Given the description of an element on the screen output the (x, y) to click on. 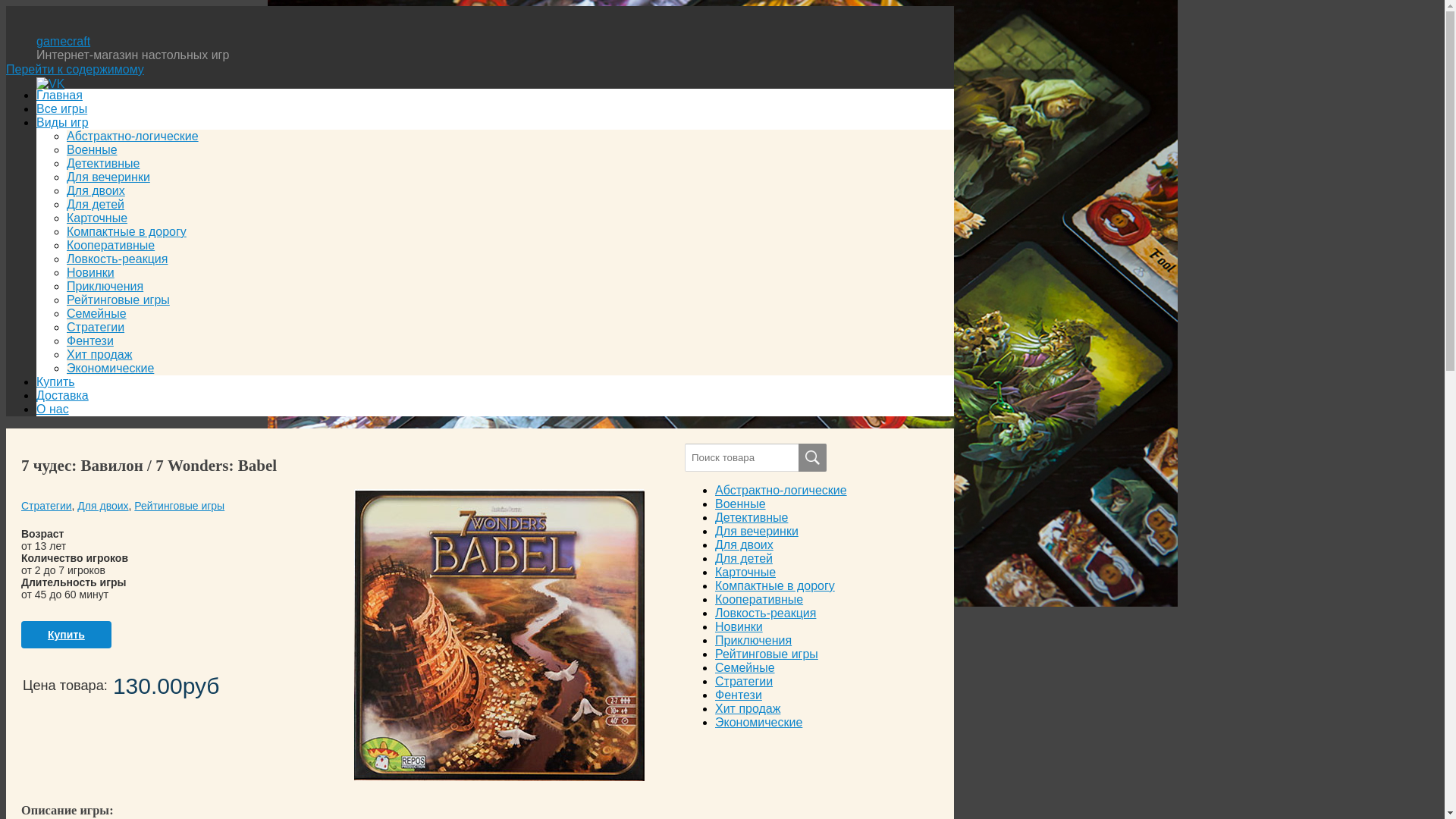
gamecraft Element type: text (63, 40)
VK Element type: hover (50, 83)
